Given the description of an element on the screen output the (x, y) to click on. 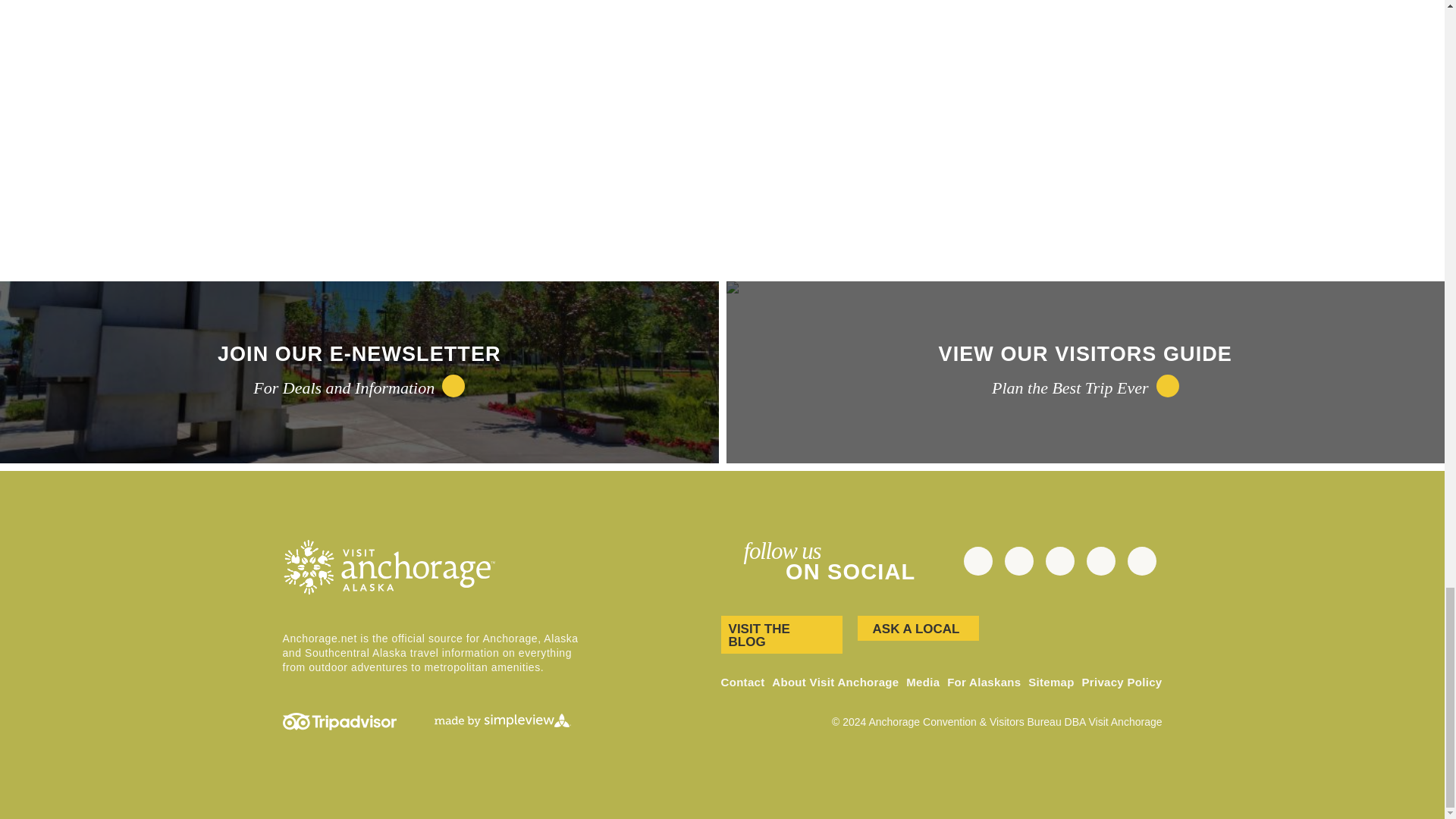
Visit our pinterest page (976, 561)
About Visit Anchorage (834, 681)
Visit our youtube page (1059, 561)
For Alaskans (983, 681)
Visit our twitter page (1141, 561)
Visit our instagram page (1018, 561)
Contact (742, 681)
Sitemap (1050, 681)
Visit our facebook page (1100, 561)
Media (922, 681)
